Given the description of an element on the screen output the (x, y) to click on. 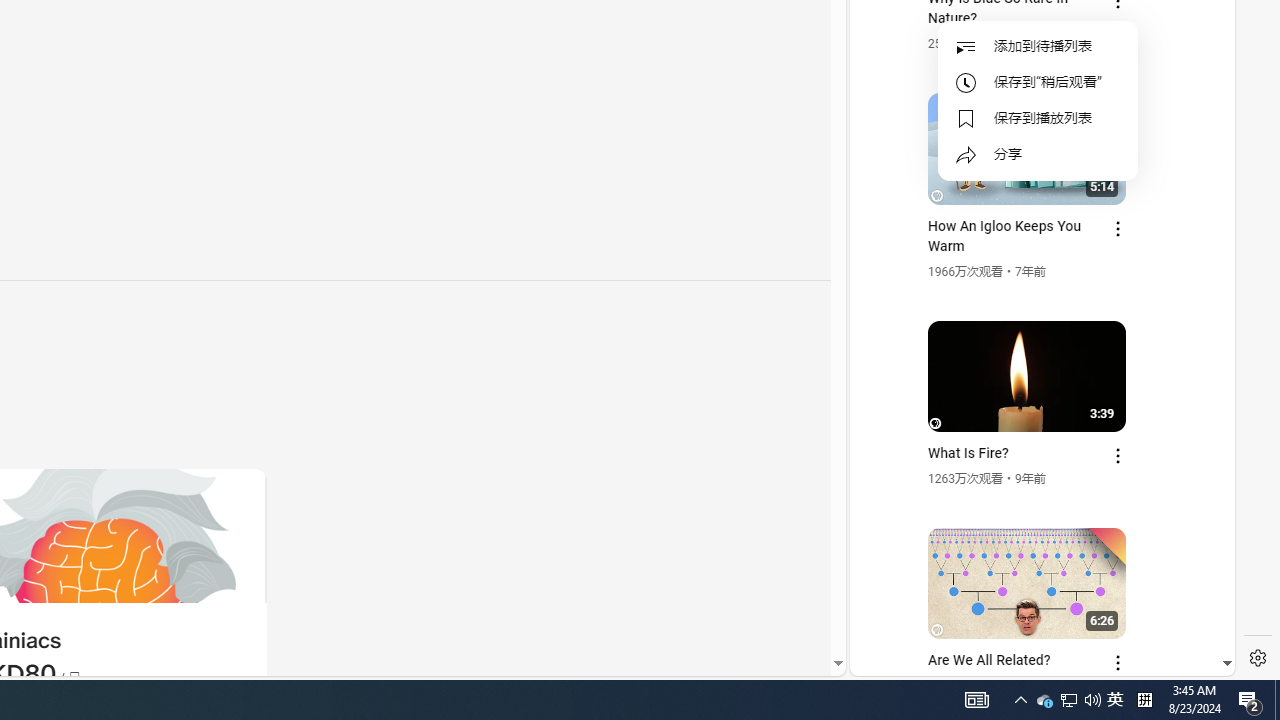
Class: dict_pnIcon rms_img (1028, 660)
YouTube - YouTube (1034, 266)
US[ju] (917, 660)
